Given the description of an element on the screen output the (x, y) to click on. 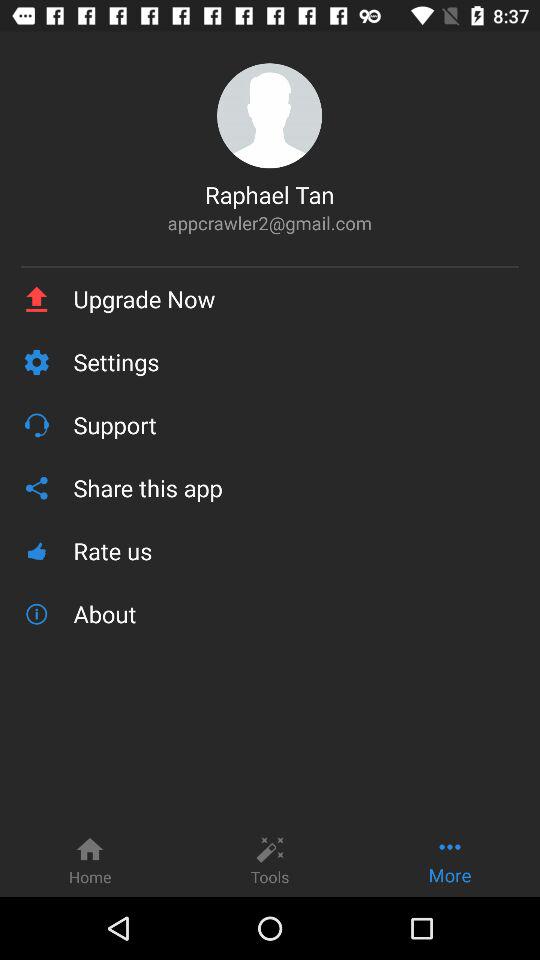
tap the item below the settings (296, 424)
